Given the description of an element on the screen output the (x, y) to click on. 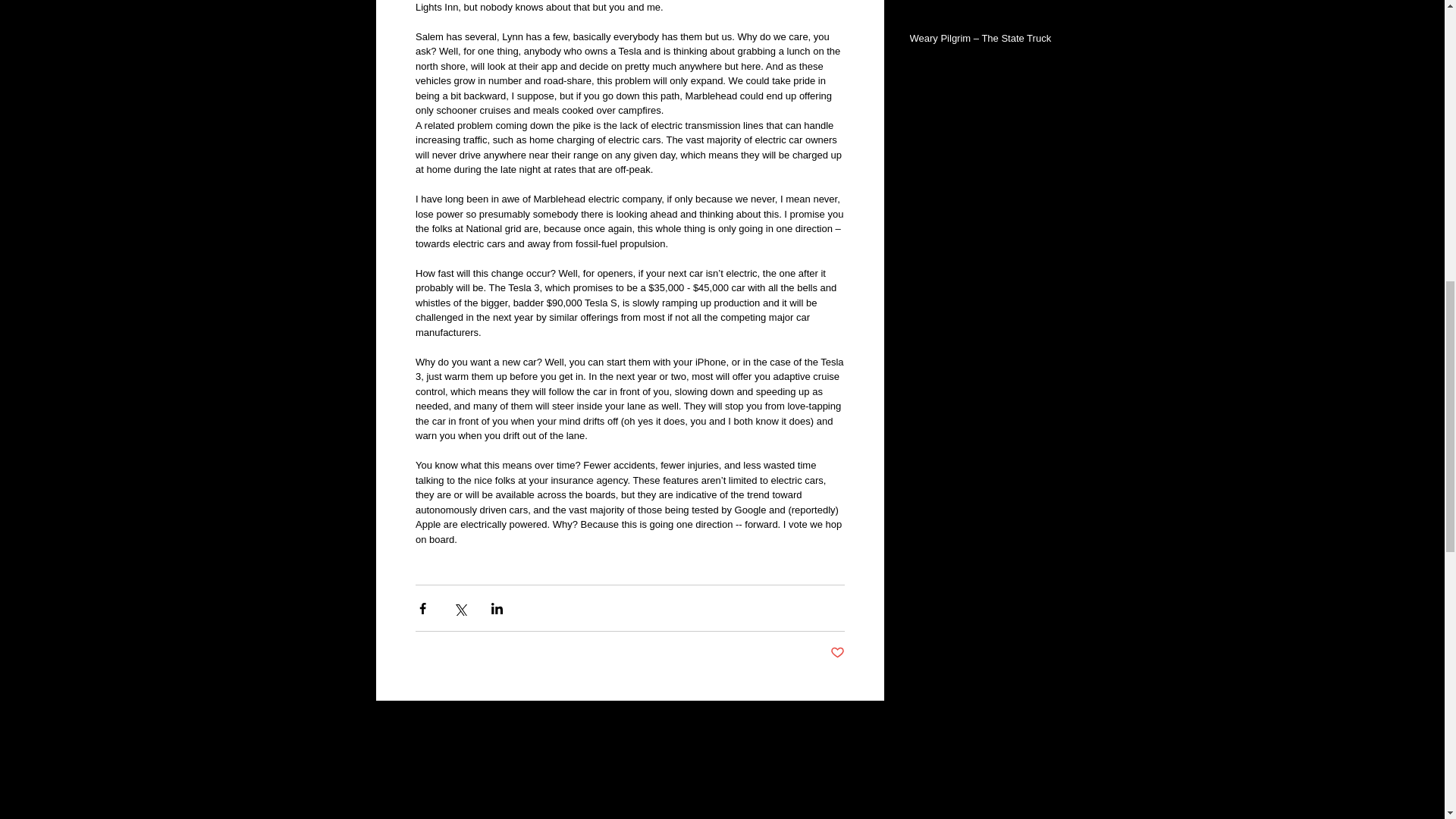
Post not marked as liked (836, 652)
